Given the description of an element on the screen output the (x, y) to click on. 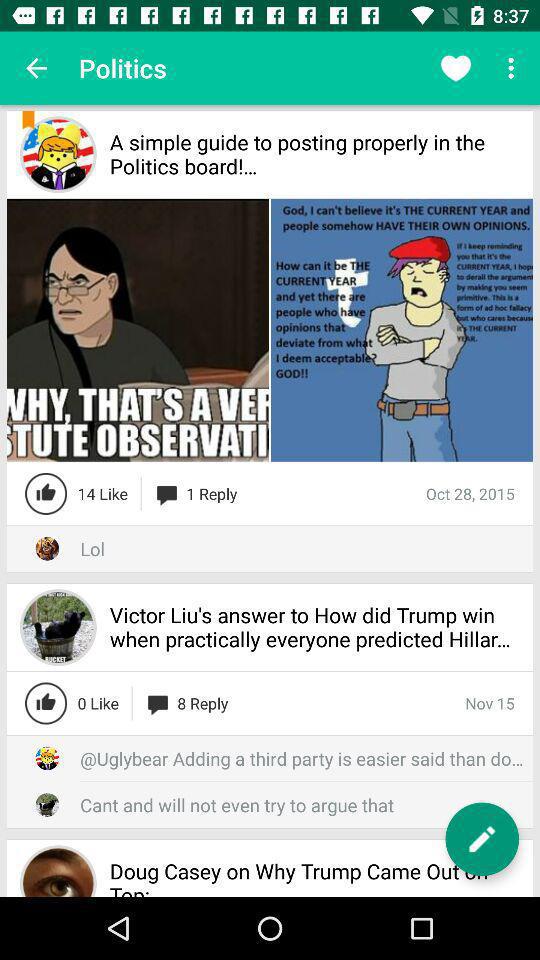
create new (482, 839)
